Given the description of an element on the screen output the (x, y) to click on. 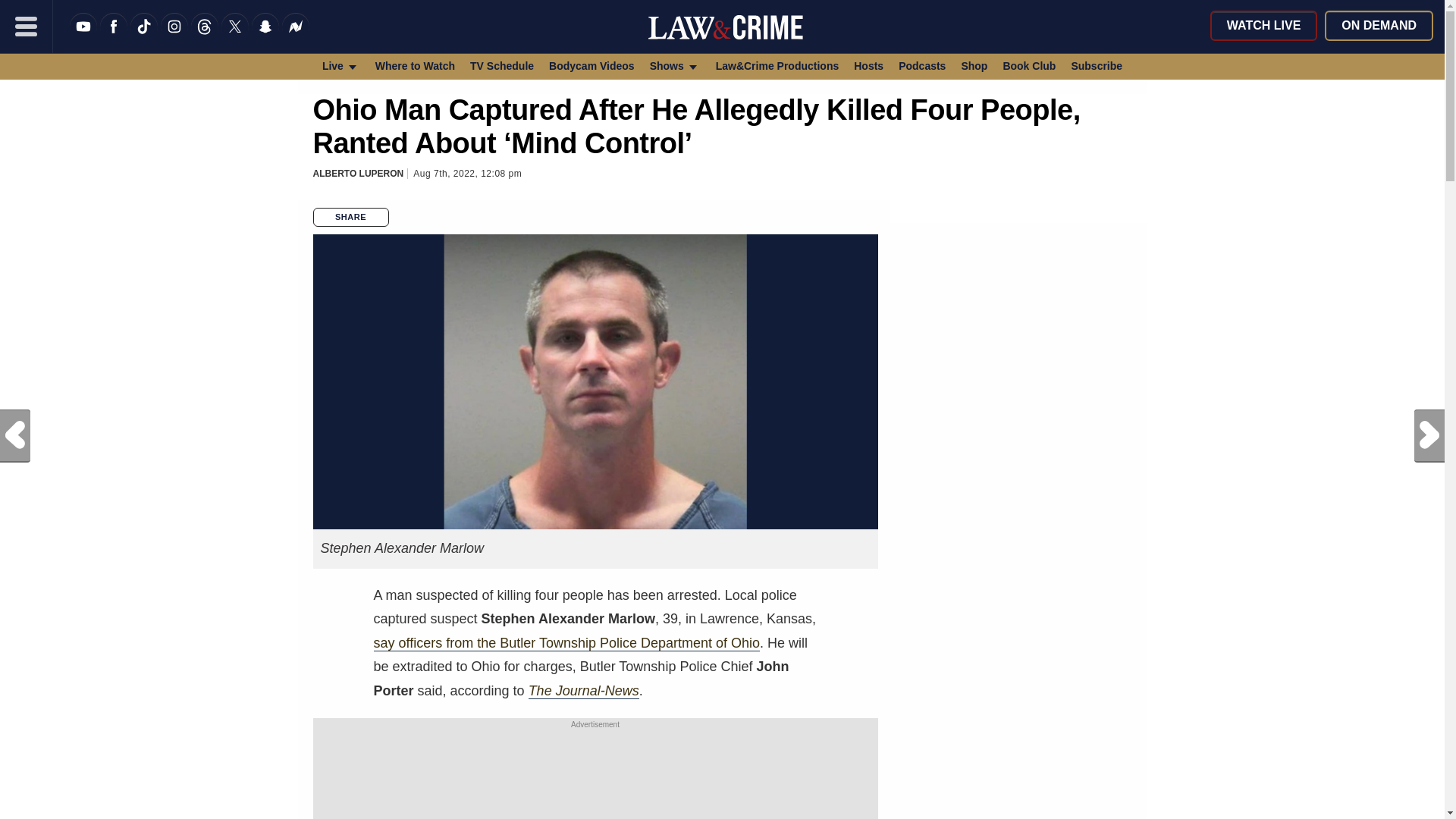
Threads (204, 35)
Posts by Alberto Luperon (358, 173)
YouTube (83, 35)
TikTok (144, 35)
Snapchat (265, 35)
Like us on Facebook (114, 35)
News Break (295, 35)
Instagram (173, 35)
